Given the description of an element on the screen output the (x, y) to click on. 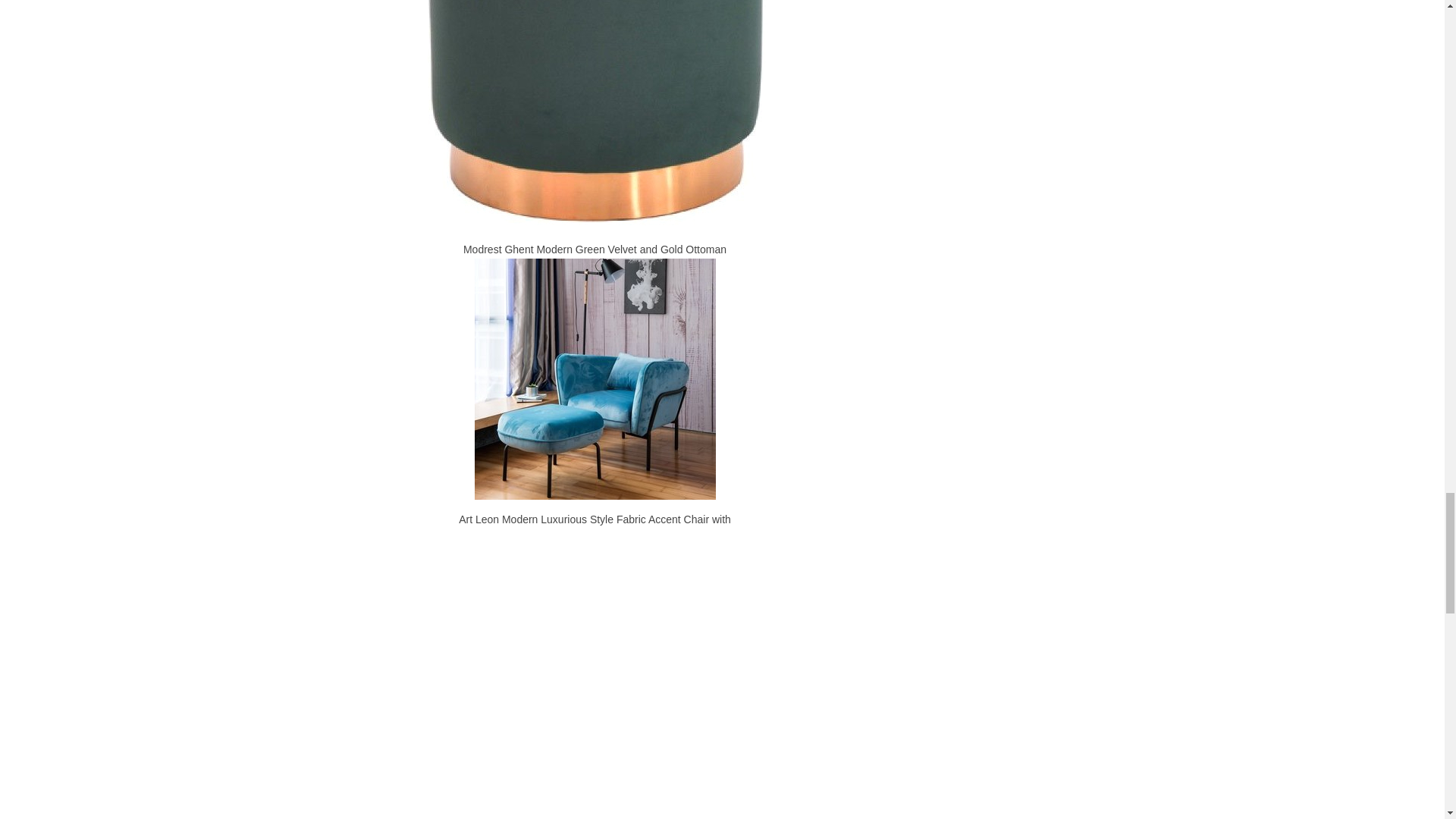
Modrest Ghent Modern Green Velvet and Gold Ottoman (593, 115)
Art Leon Modern Luxurious Style Fabric Accent Chair with (594, 378)
